Given the description of an element on the screen output the (x, y) to click on. 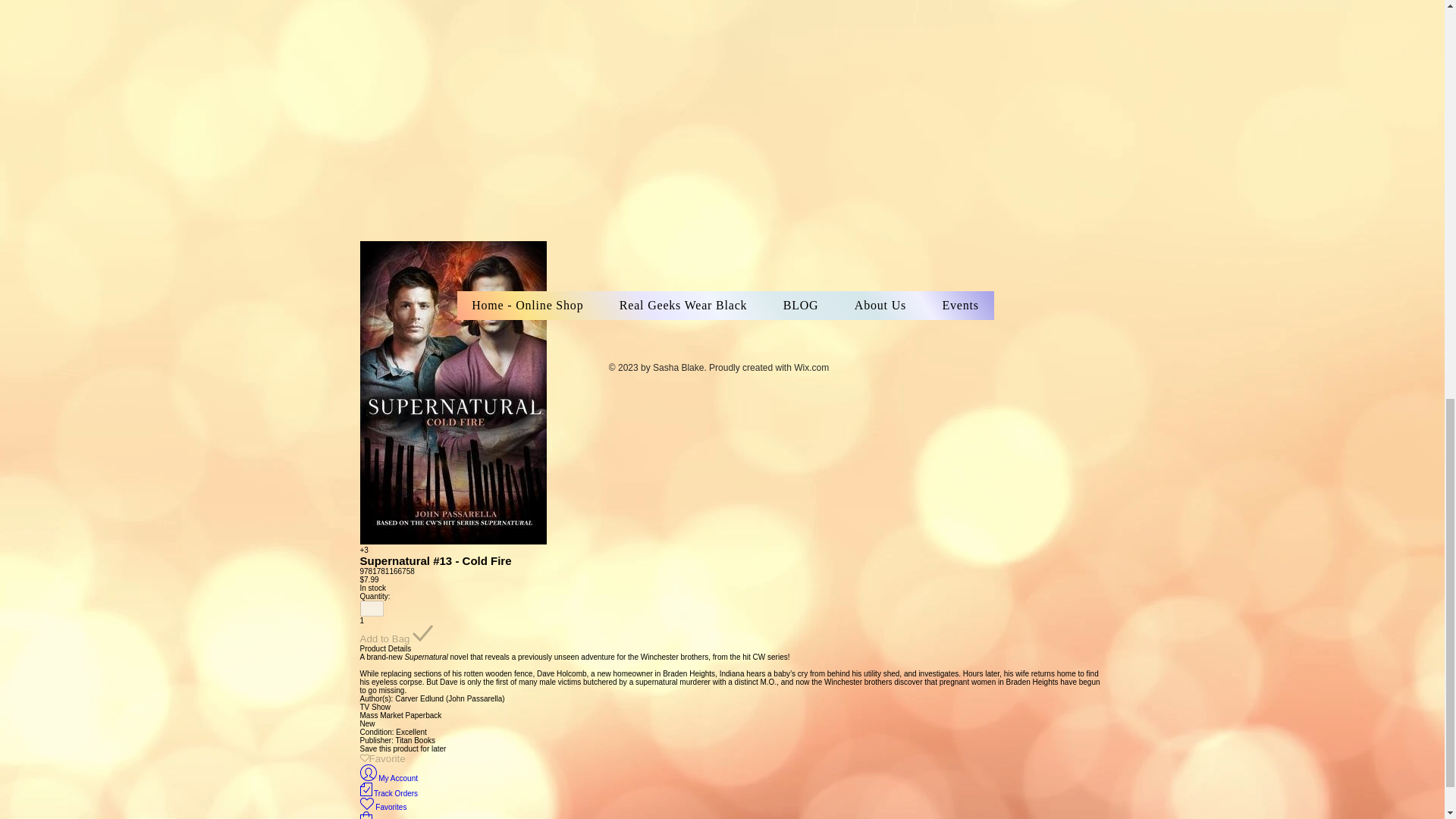
Favorites (382, 807)
Favorite (381, 758)
Real Geeks Wear Black (682, 305)
Add to Bag (395, 634)
BLOG (800, 305)
Track Orders (388, 793)
Home - Online Shop (527, 305)
Events (960, 305)
My Account (387, 777)
Wix.com (810, 367)
About Us (880, 305)
